Given the description of an element on the screen output the (x, y) to click on. 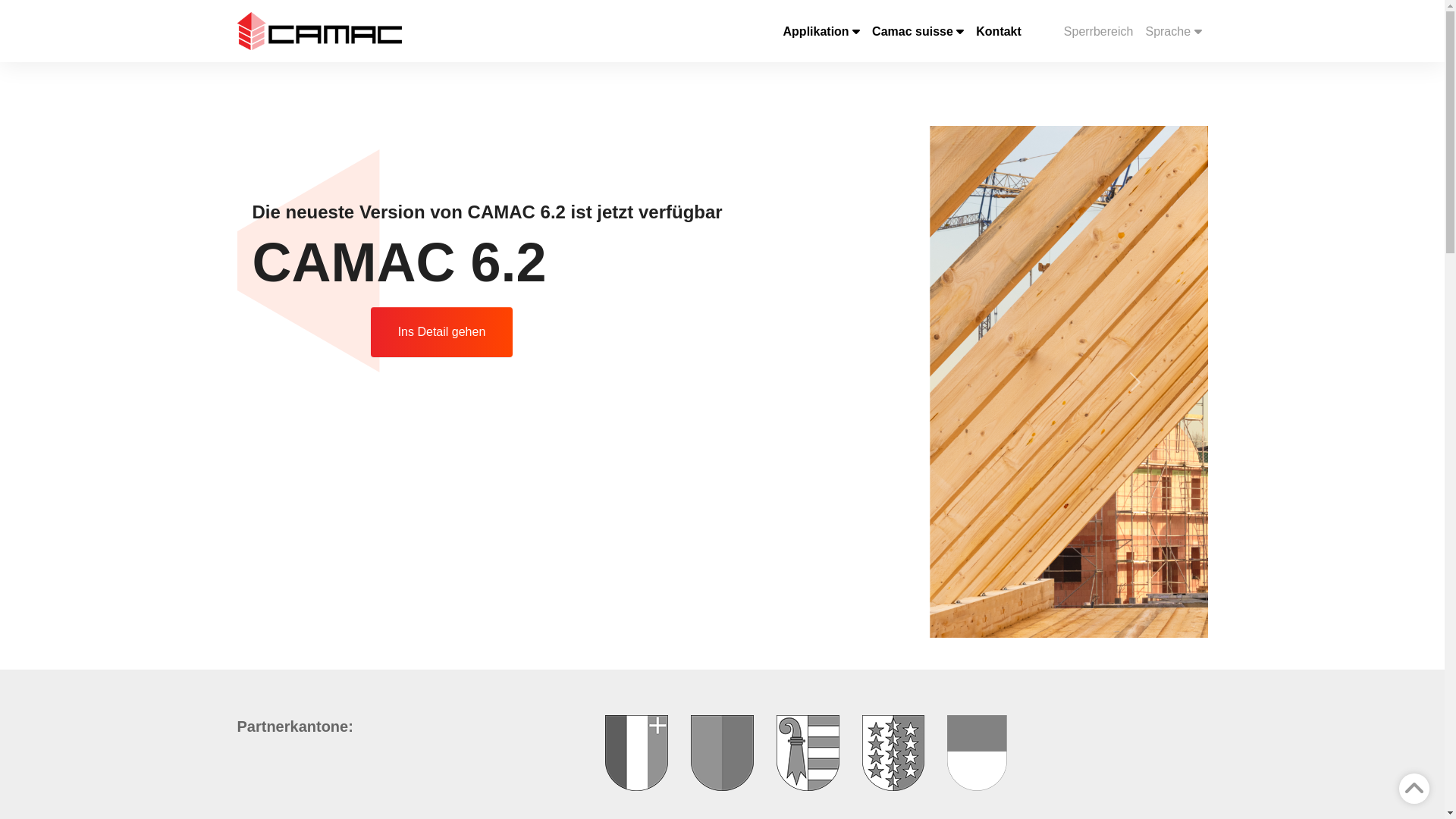
Applikation Element type: text (821, 30)
Sperrbereich Element type: text (1098, 30)
Next Element type: text (1134, 381)
Sprache Element type: text (1173, 30)
Previous Element type: text (309, 381)
Kontakt Element type: text (998, 30)
Camac suisse Element type: text (917, 30)
Ins Detail gehen Element type: text (441, 332)
